Given the description of an element on the screen output the (x, y) to click on. 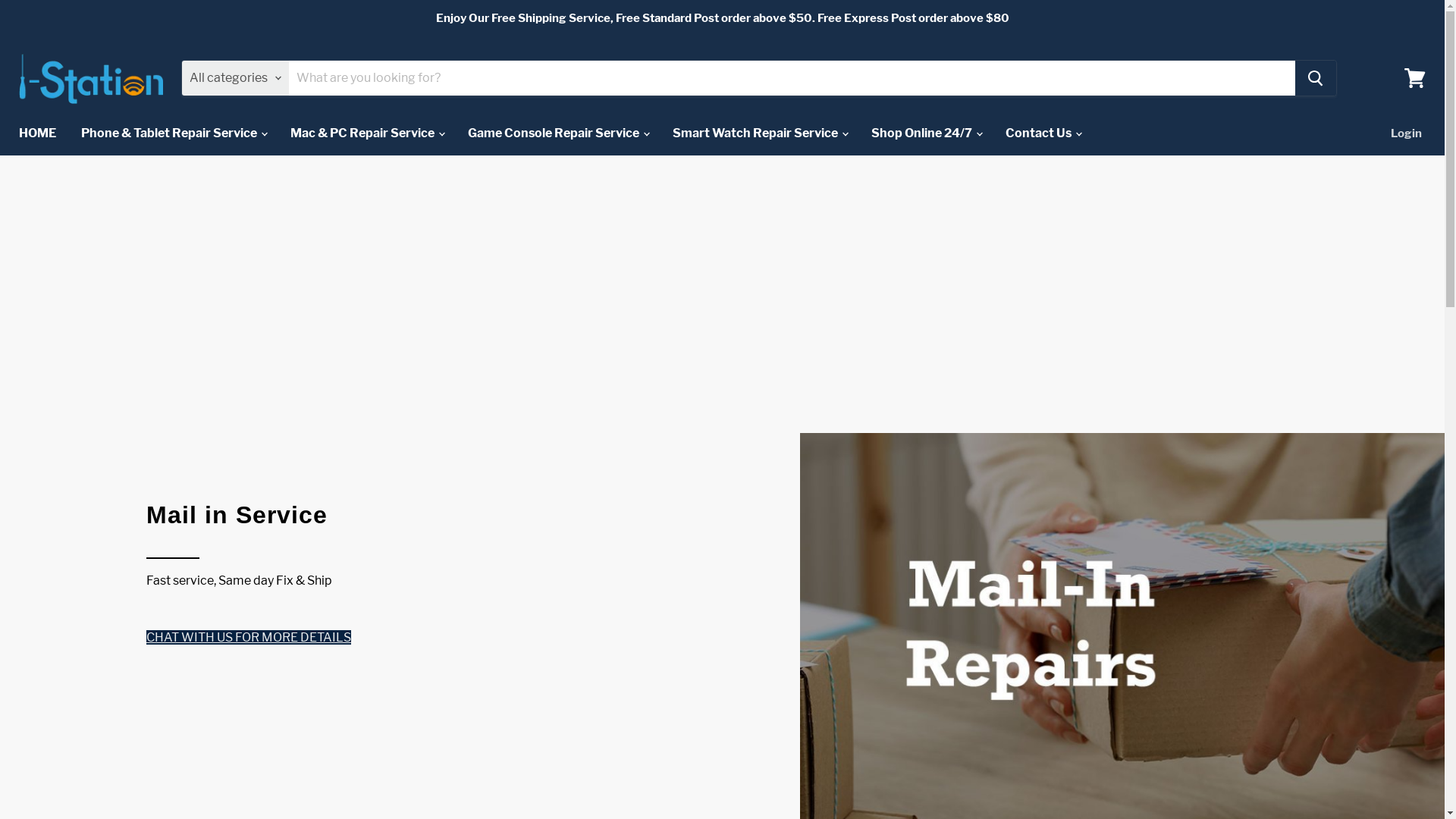
Smart Watch Repair Service Element type: text (759, 133)
Phone & Tablet Repair Service Element type: text (172, 133)
Game Console Repair Service Element type: text (557, 133)
HOME Element type: text (37, 133)
Contact Us Element type: text (1042, 133)
Login Element type: text (1405, 133)
CHAT WITH US FOR MORE DETAILS Element type: text (248, 637)
Shop Online 24/7 Element type: text (925, 133)
View cart Element type: text (1414, 77)
Mac & PC Repair Service Element type: text (366, 133)
